Given the description of an element on the screen output the (x, y) to click on. 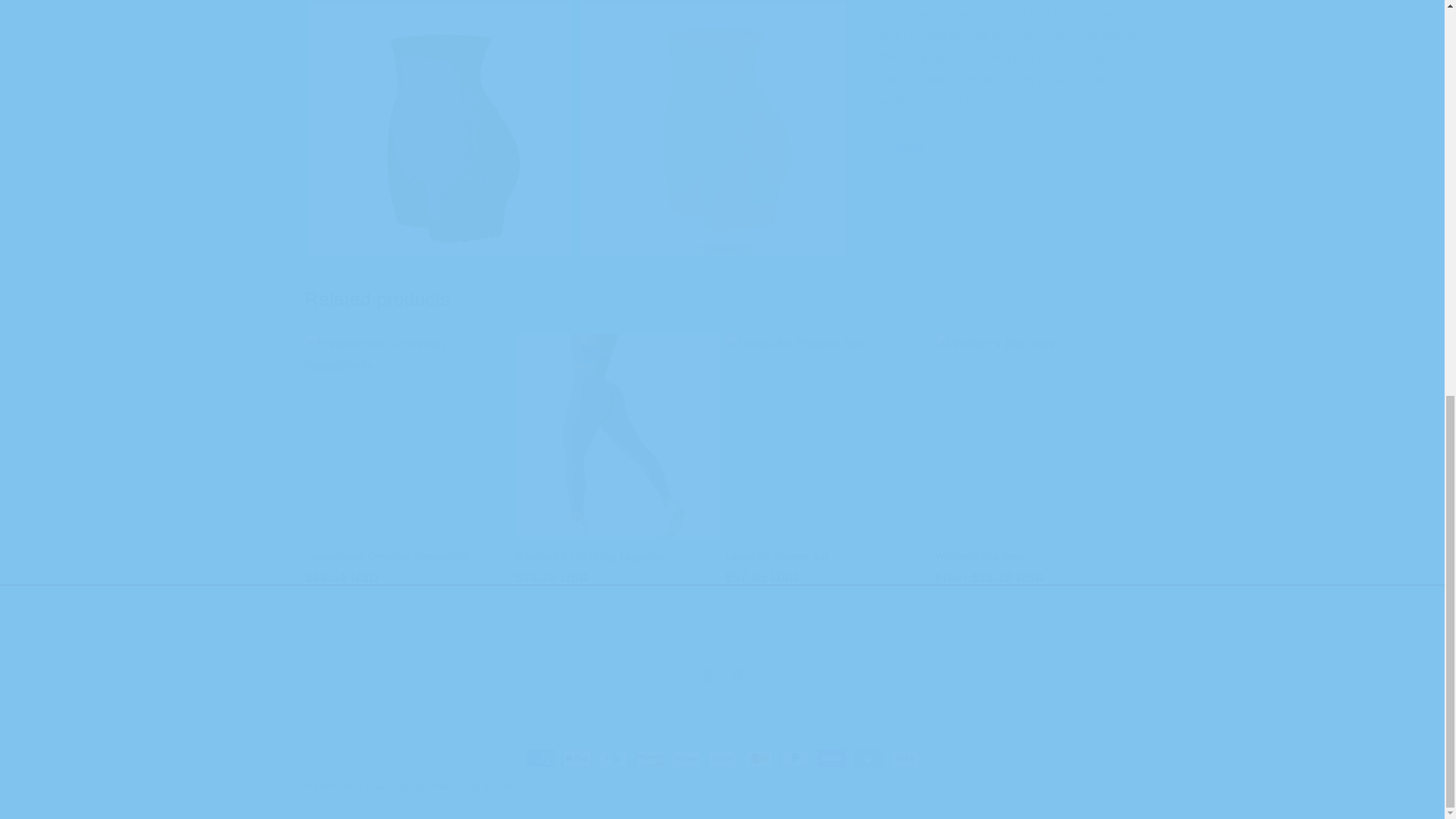
Open media 5 in modal (721, 674)
Open media 4 in modal (713, 128)
